Given the description of an element on the screen output the (x, y) to click on. 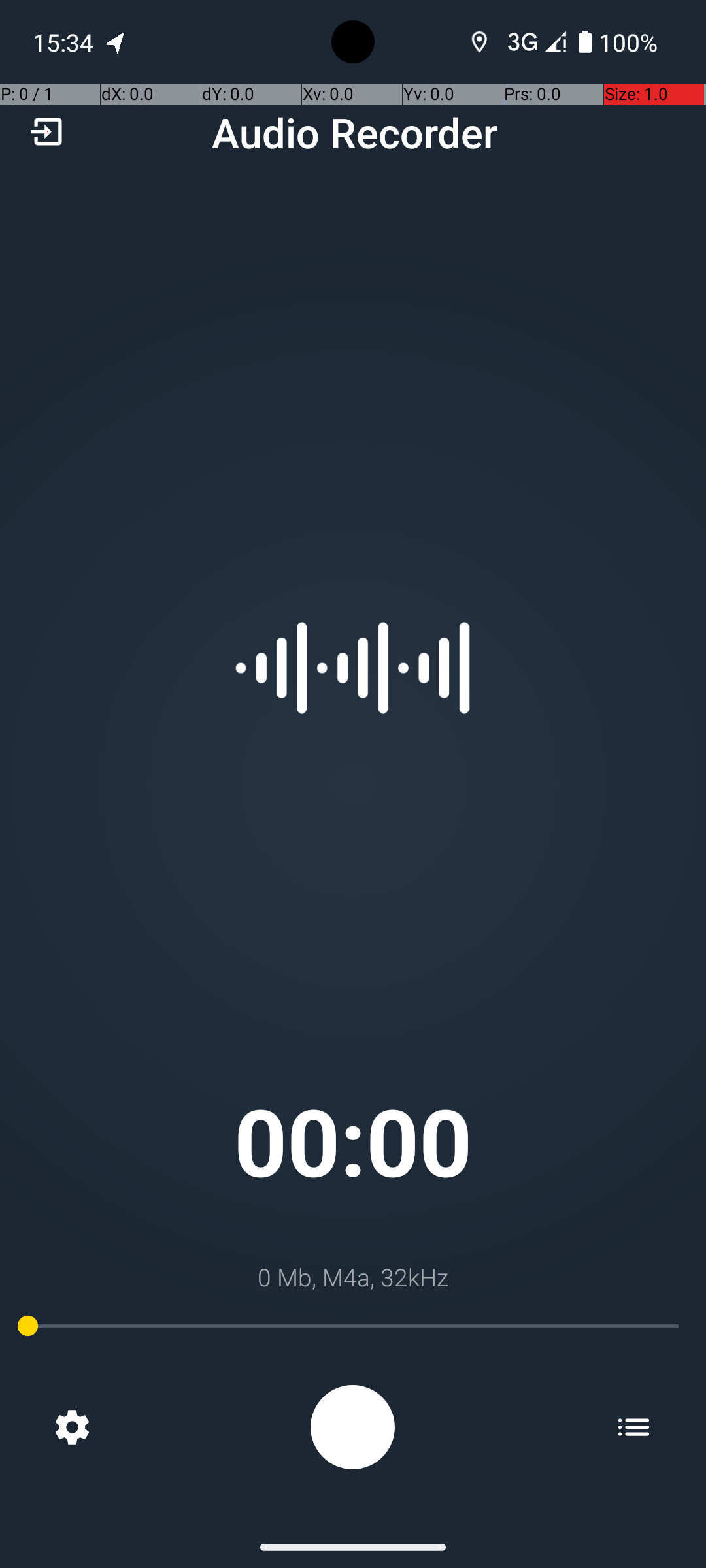
Audio Recorder Element type: android.widget.TextView (354, 132)
00:00 Element type: android.widget.TextView (352, 1140)
0 Mb, M4a, 32kHz Element type: android.widget.TextView (352, 1276)
Settings Element type: android.widget.ImageButton (72, 1427)
Recording: %s Element type: android.widget.ImageButton (352, 1427)
OpenTracks notification: Distance: 0.00 ft Element type: android.widget.ImageView (115, 41)
Location requests active Element type: android.widget.ImageView (479, 41)
Phone two bars. Element type: android.widget.FrameLayout (534, 41)
